Given the description of an element on the screen output the (x, y) to click on. 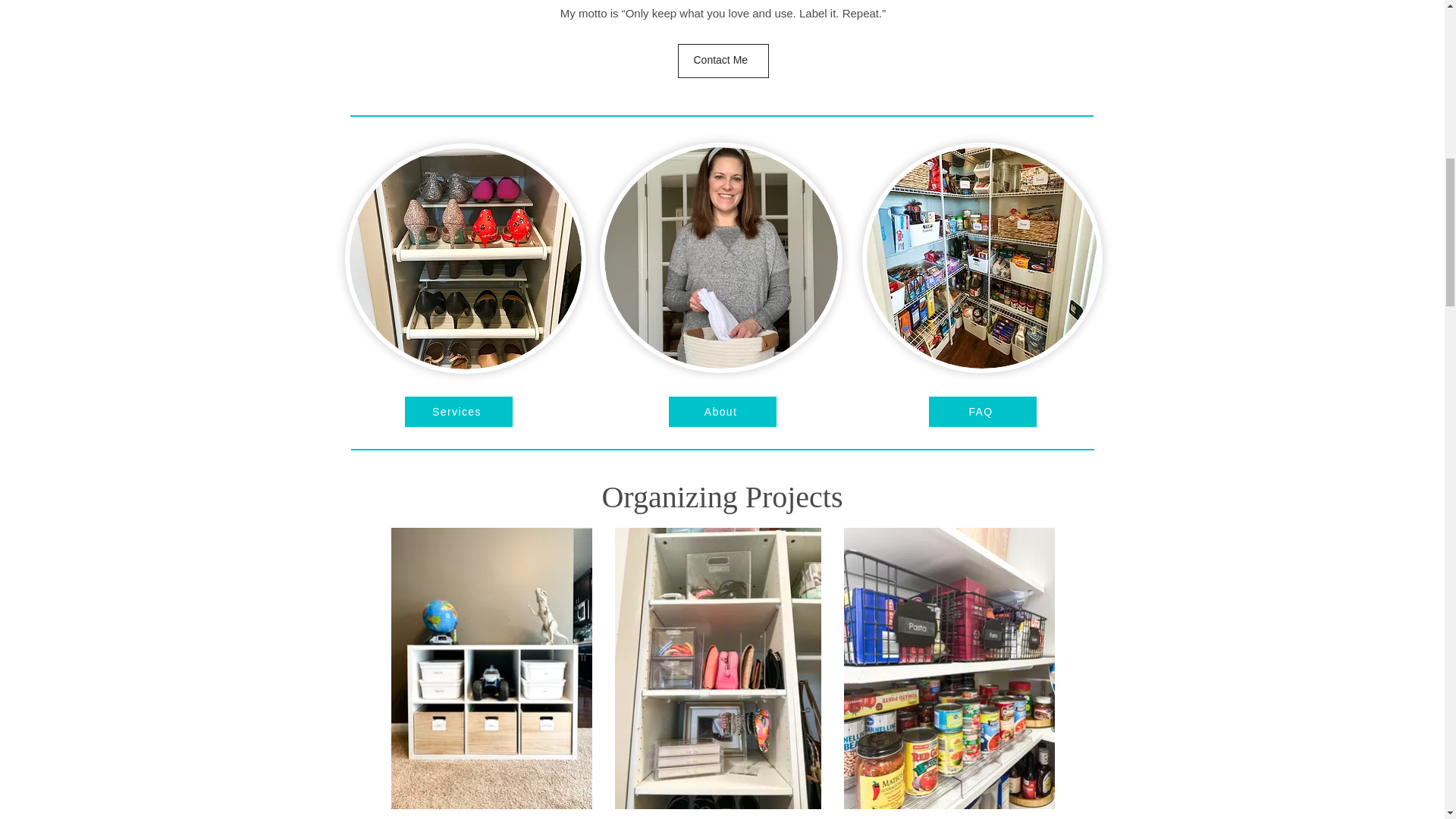
FAQ (981, 411)
Services (458, 411)
Contact Me (723, 60)
About (722, 411)
